Given the description of an element on the screen output the (x, y) to click on. 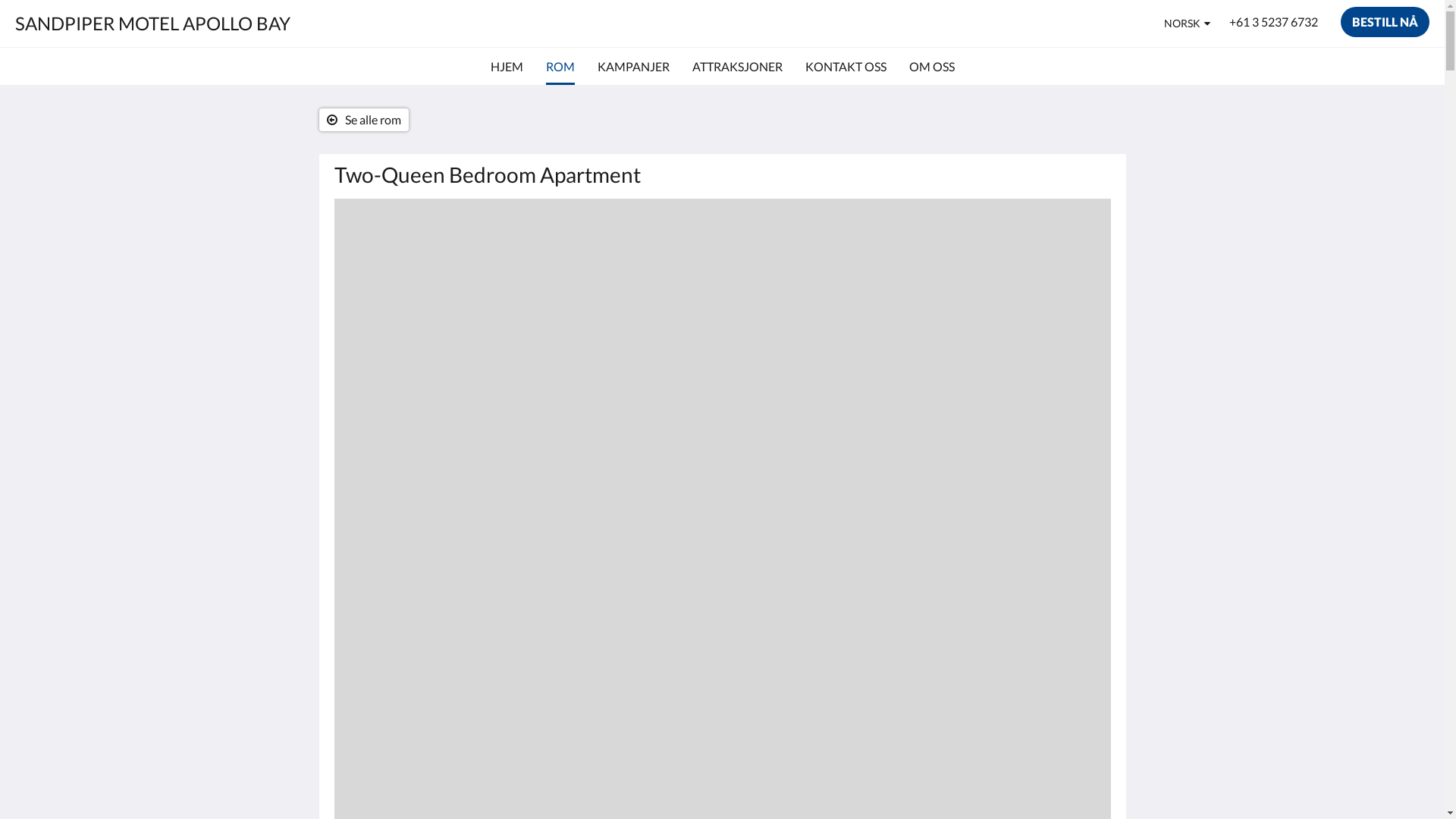
KAMPANJER Element type: text (633, 66)
KONTAKT OSS Element type: text (845, 66)
+61 3 5237 6732 Element type: text (1273, 21)
ROM Element type: text (560, 66)
OM OSS Element type: text (930, 66)
HJEM Element type: text (505, 66)
ATTRAKSJONER Element type: text (736, 66)
click to zoom-in Element type: hover (721, 350)
Se alle rom Element type: text (362, 119)
click to zoom-in Element type: hover (721, 653)
SANDPIPER MOTEL APOLLO BAY Element type: text (152, 22)
NORSK Element type: text (1187, 23)
